Given the description of an element on the screen output the (x, y) to click on. 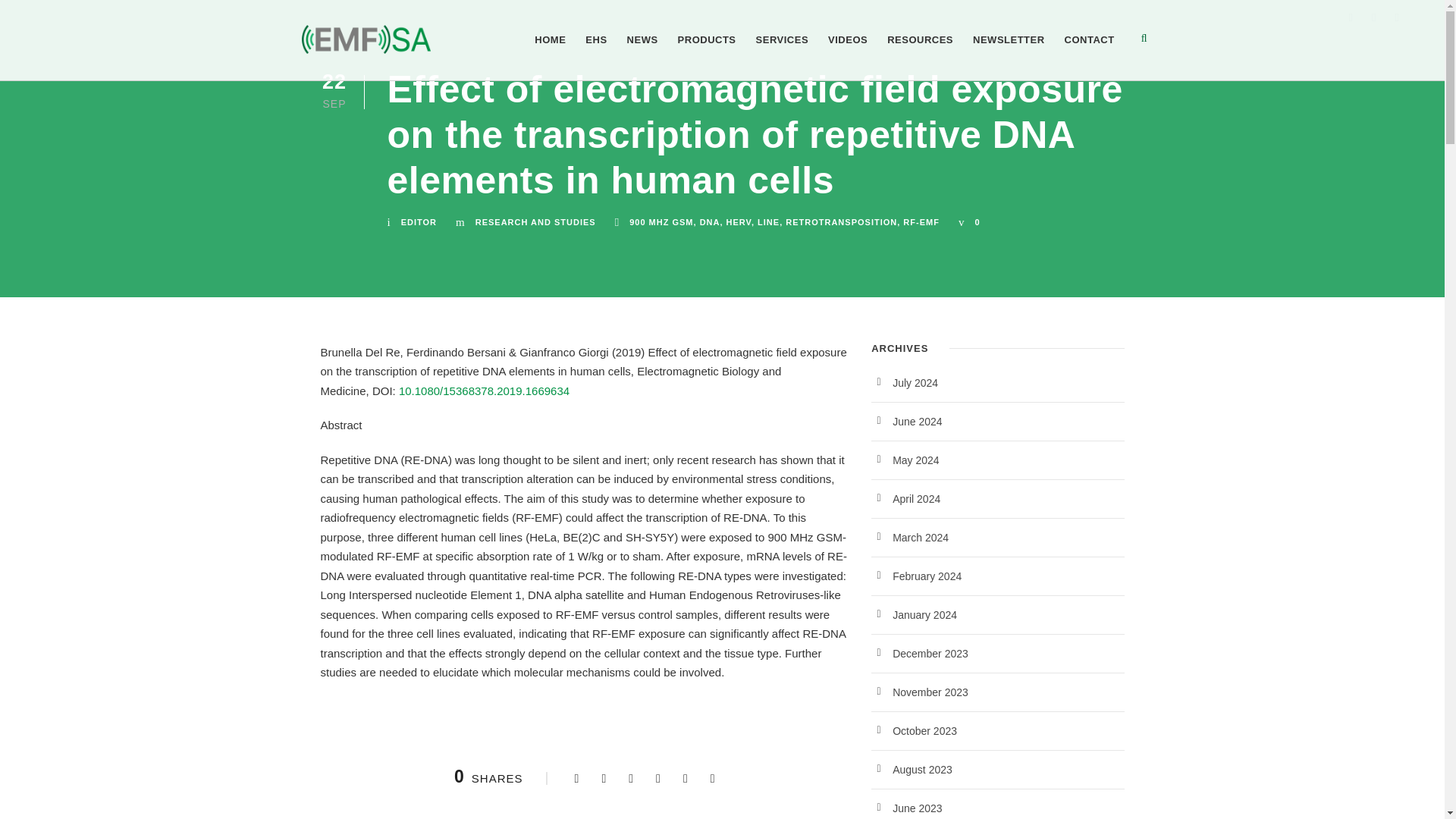
Posts by Editor (418, 221)
EMFSA logo (365, 39)
PRODUCTS (707, 55)
SERVICES (782, 55)
